Given the description of an element on the screen output the (x, y) to click on. 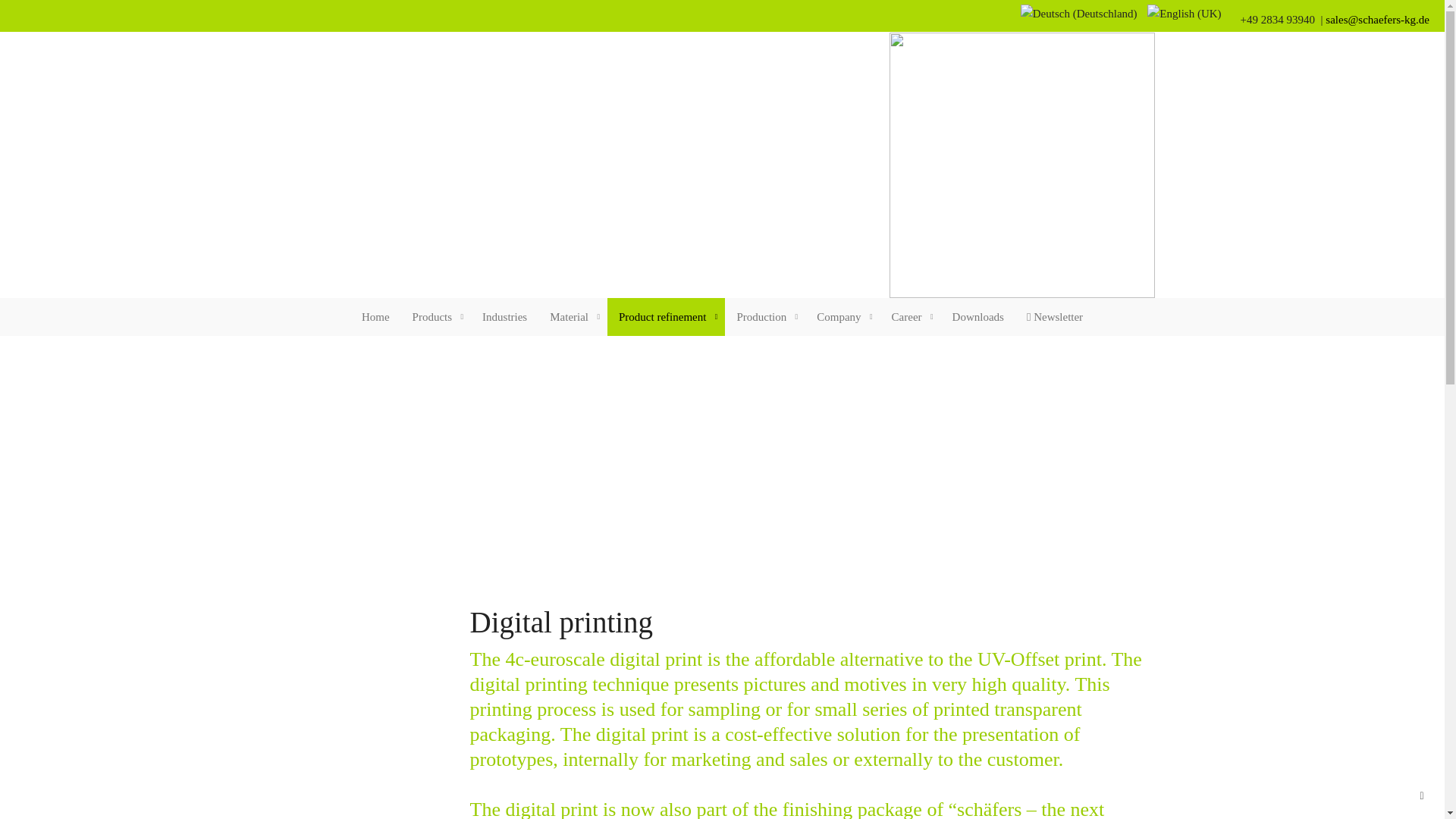
Company (842, 316)
Material (572, 316)
Product refinement (666, 316)
Industries (504, 316)
Home (375, 316)
Production (765, 316)
Products (436, 316)
